Given the description of an element on the screen output the (x, y) to click on. 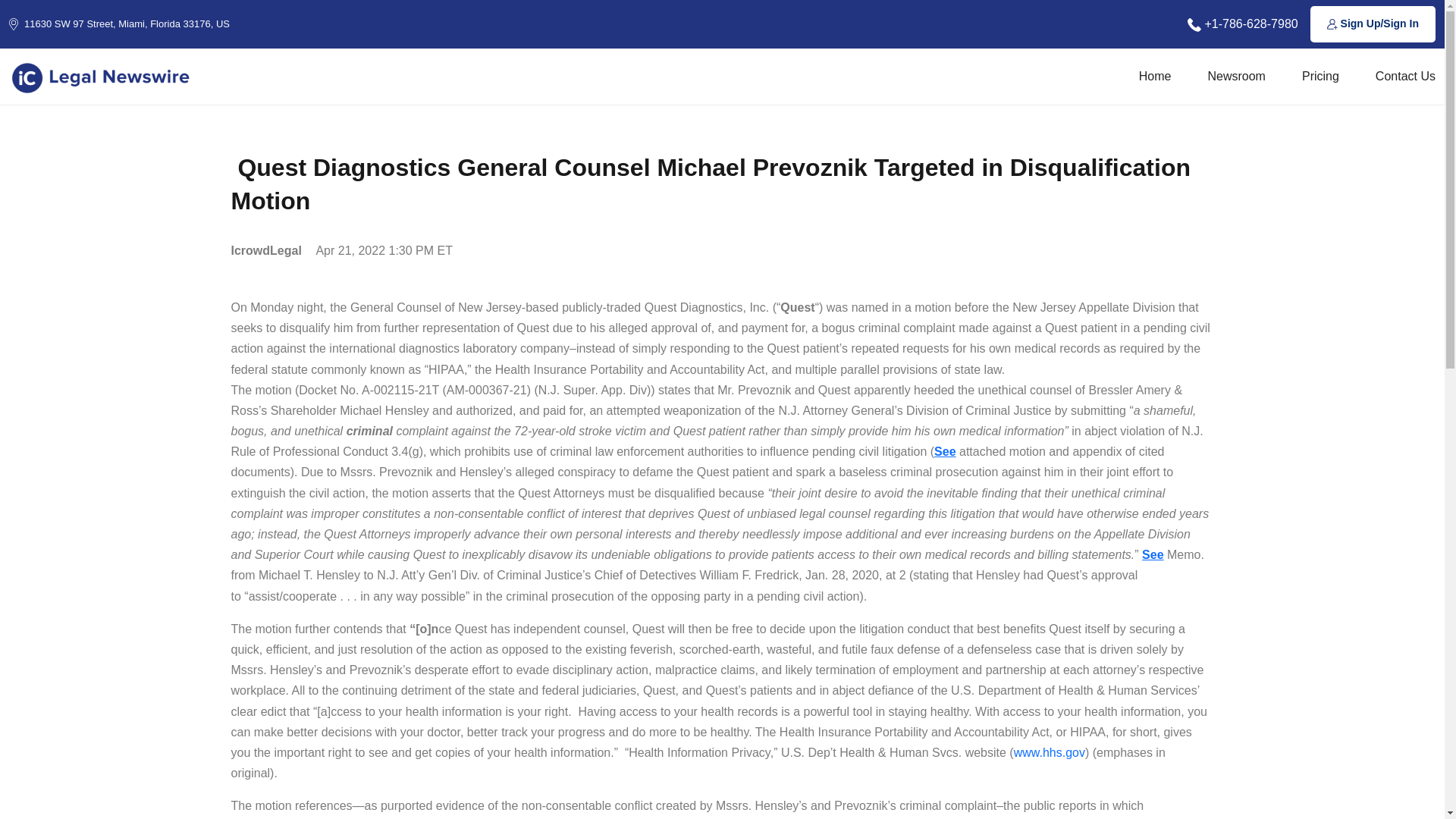
www.hhs.gov (1048, 752)
Newsroom (1236, 75)
Pricing (1320, 75)
Contact Us (1405, 75)
See (944, 451)
Home (1155, 75)
See (1152, 554)
